Given the description of an element on the screen output the (x, y) to click on. 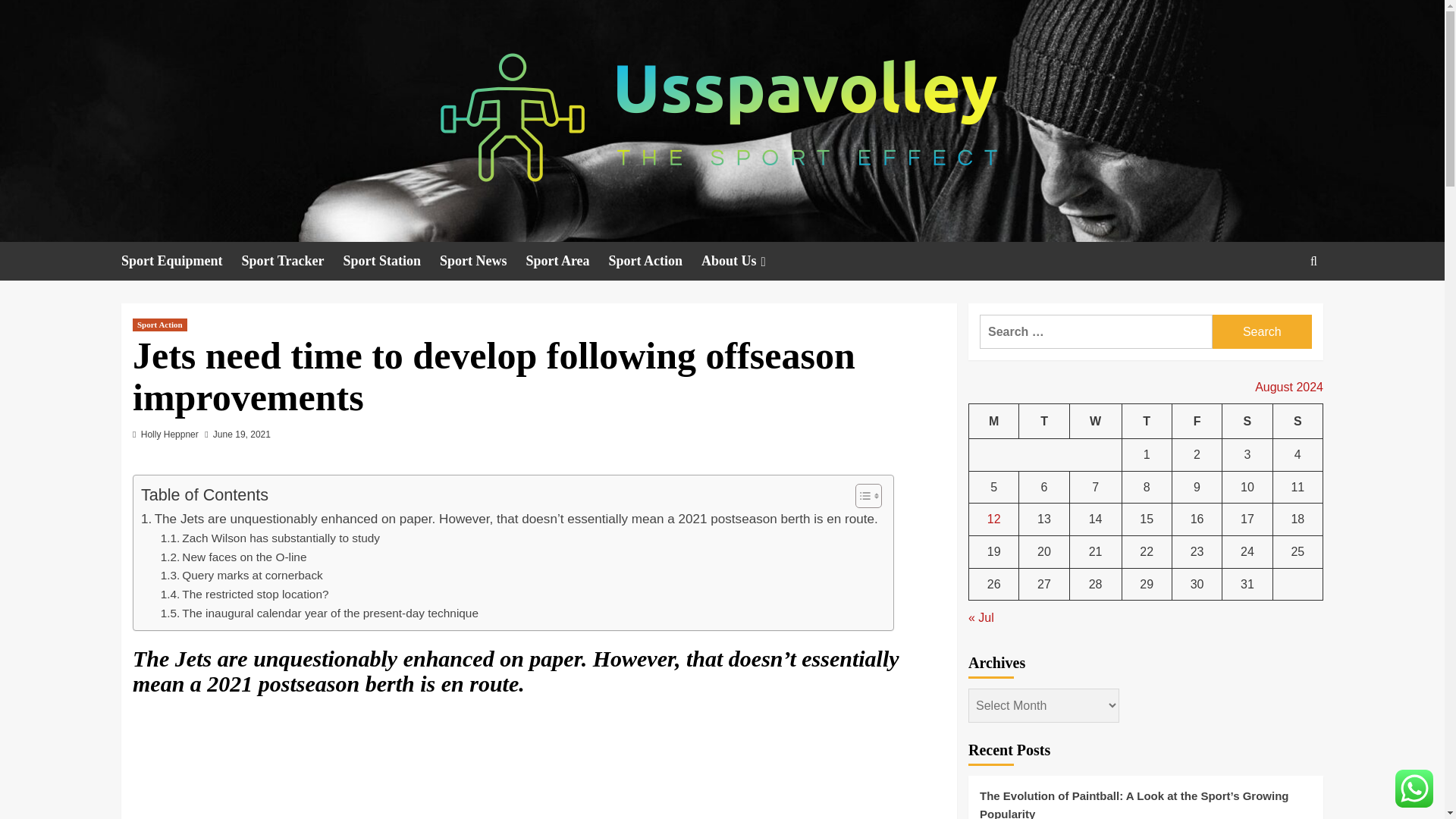
Search (1261, 331)
About Us (745, 260)
New faces on the O-line (233, 557)
Search (1278, 308)
Tuesday (1043, 420)
Sport Action (654, 260)
Sport Equipment (180, 260)
Sport Area (566, 260)
Zach Wilson has substantially to study (270, 538)
Friday (1196, 420)
